Given the description of an element on the screen output the (x, y) to click on. 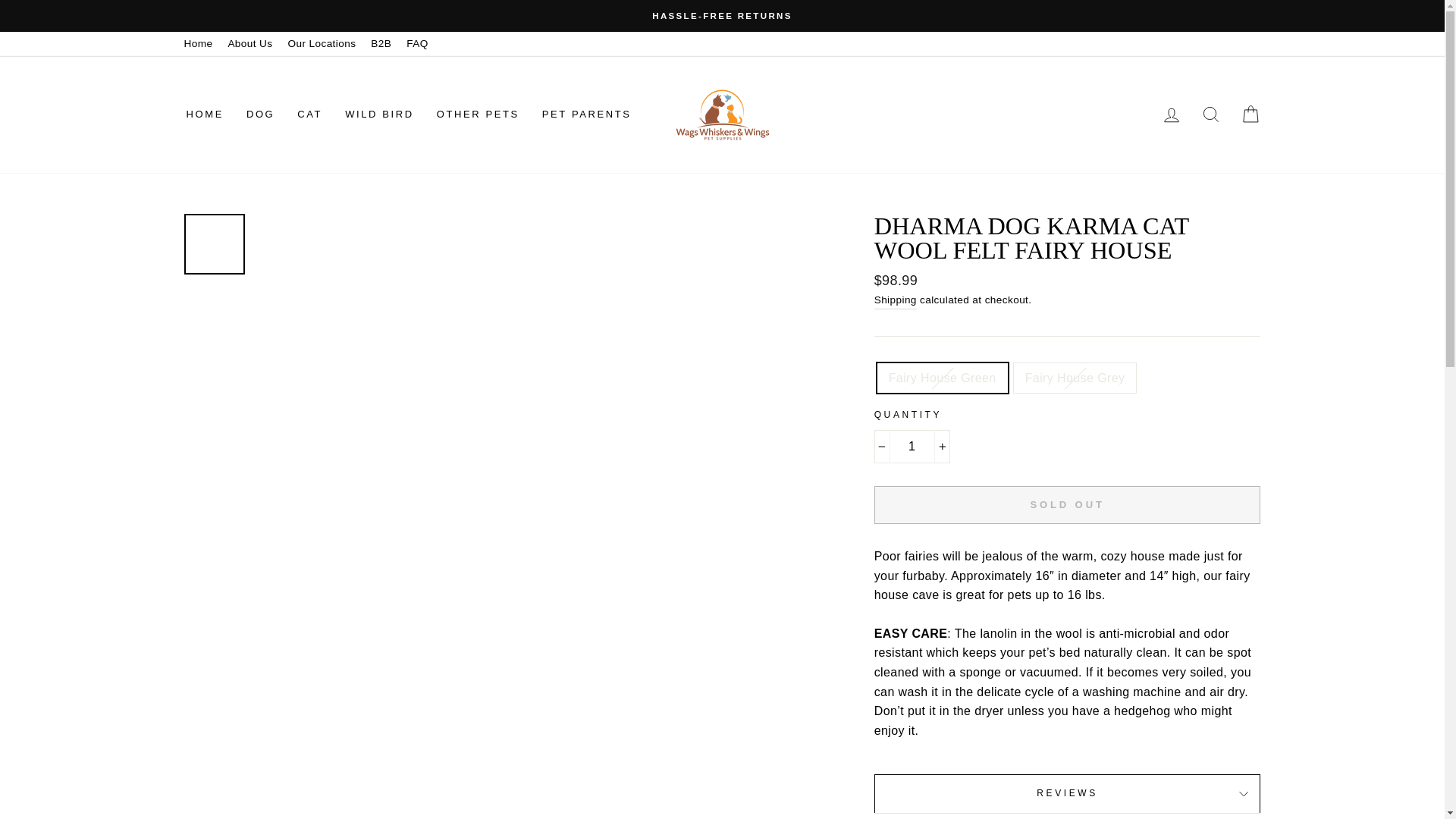
1 (912, 446)
